Given the description of an element on the screen output the (x, y) to click on. 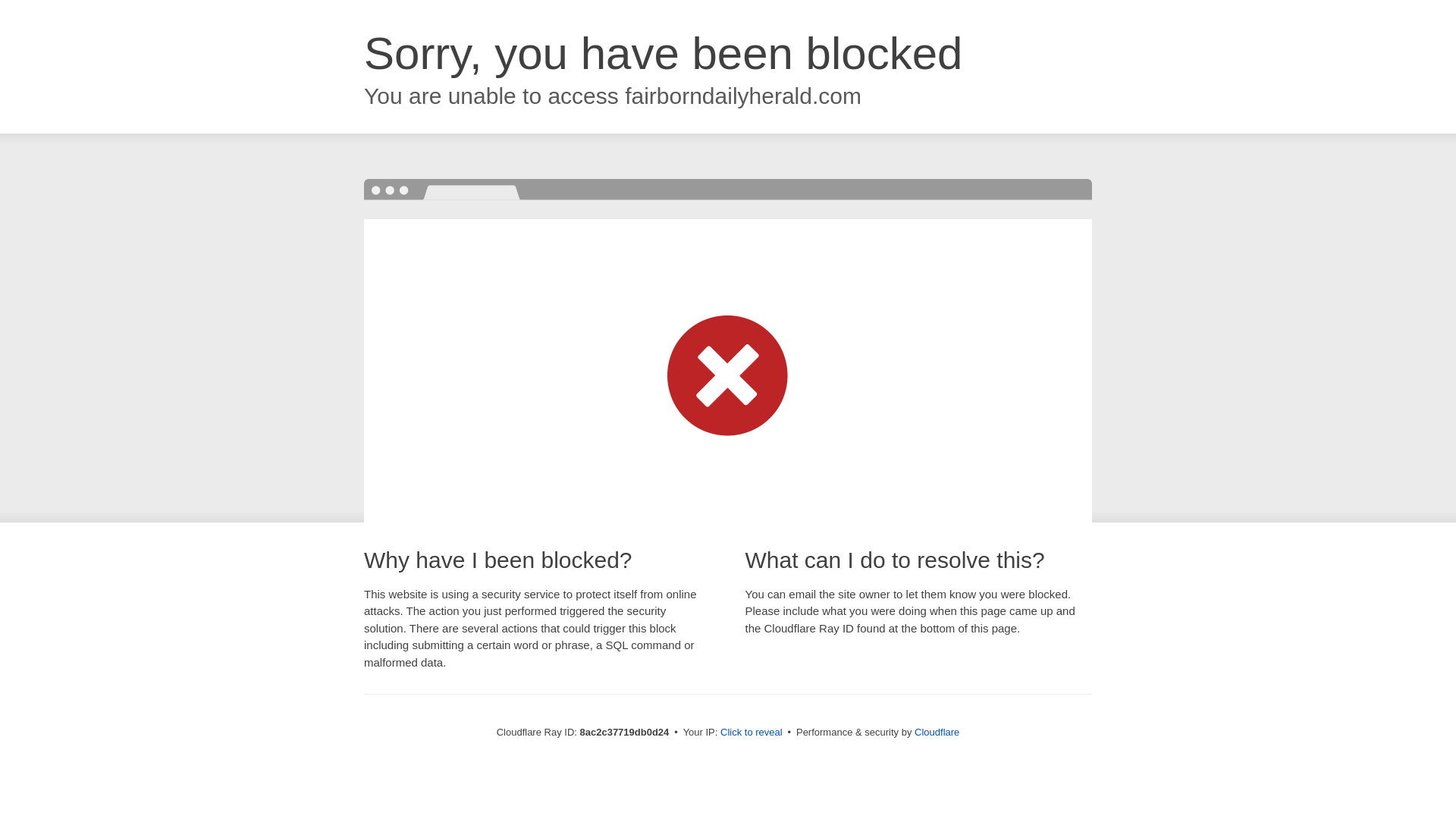
Click to reveal (751, 732)
Cloudflare (936, 731)
